Given the description of an element on the screen output the (x, y) to click on. 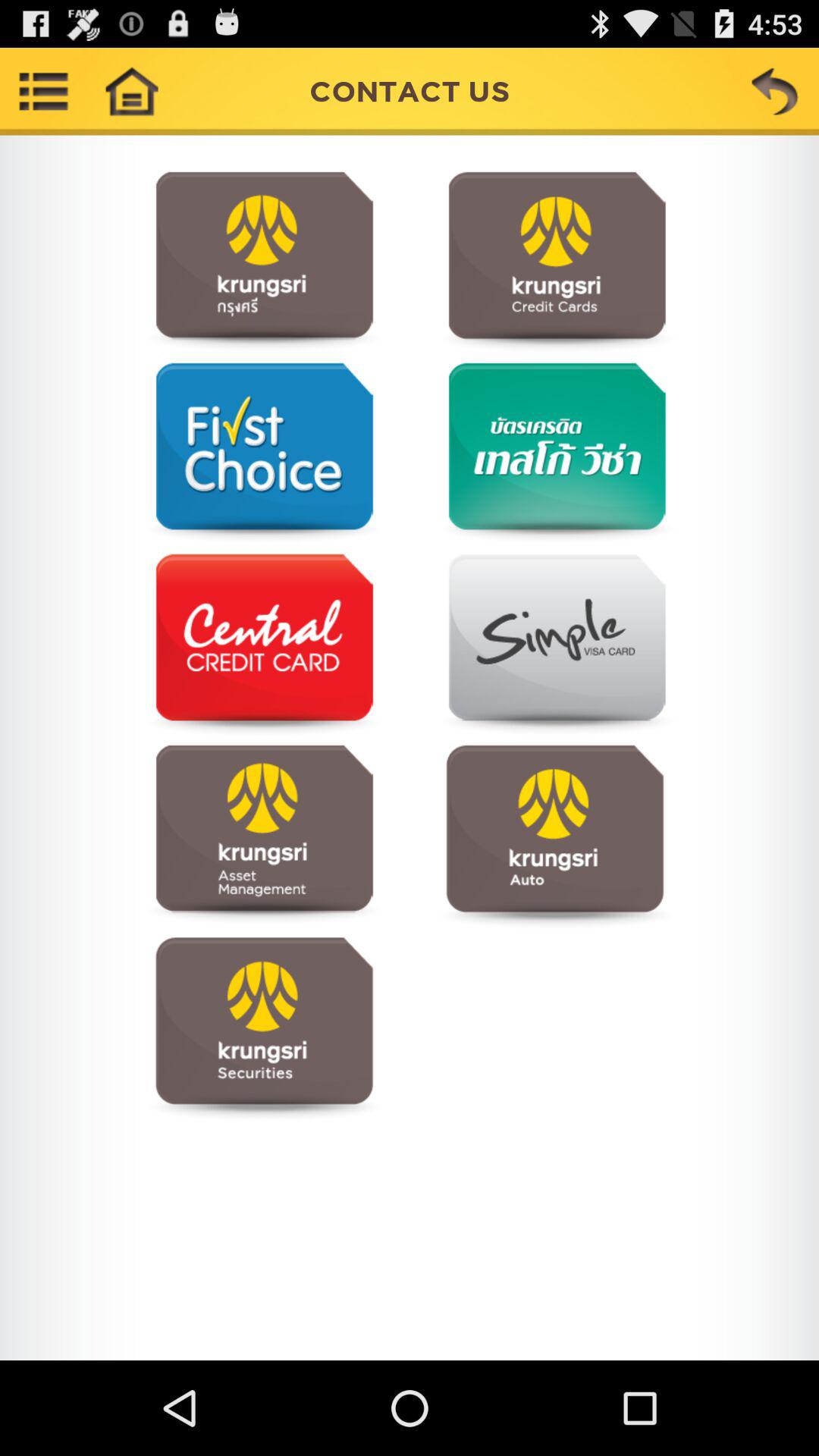
select simple visa option (554, 644)
